Given the description of an element on the screen output the (x, y) to click on. 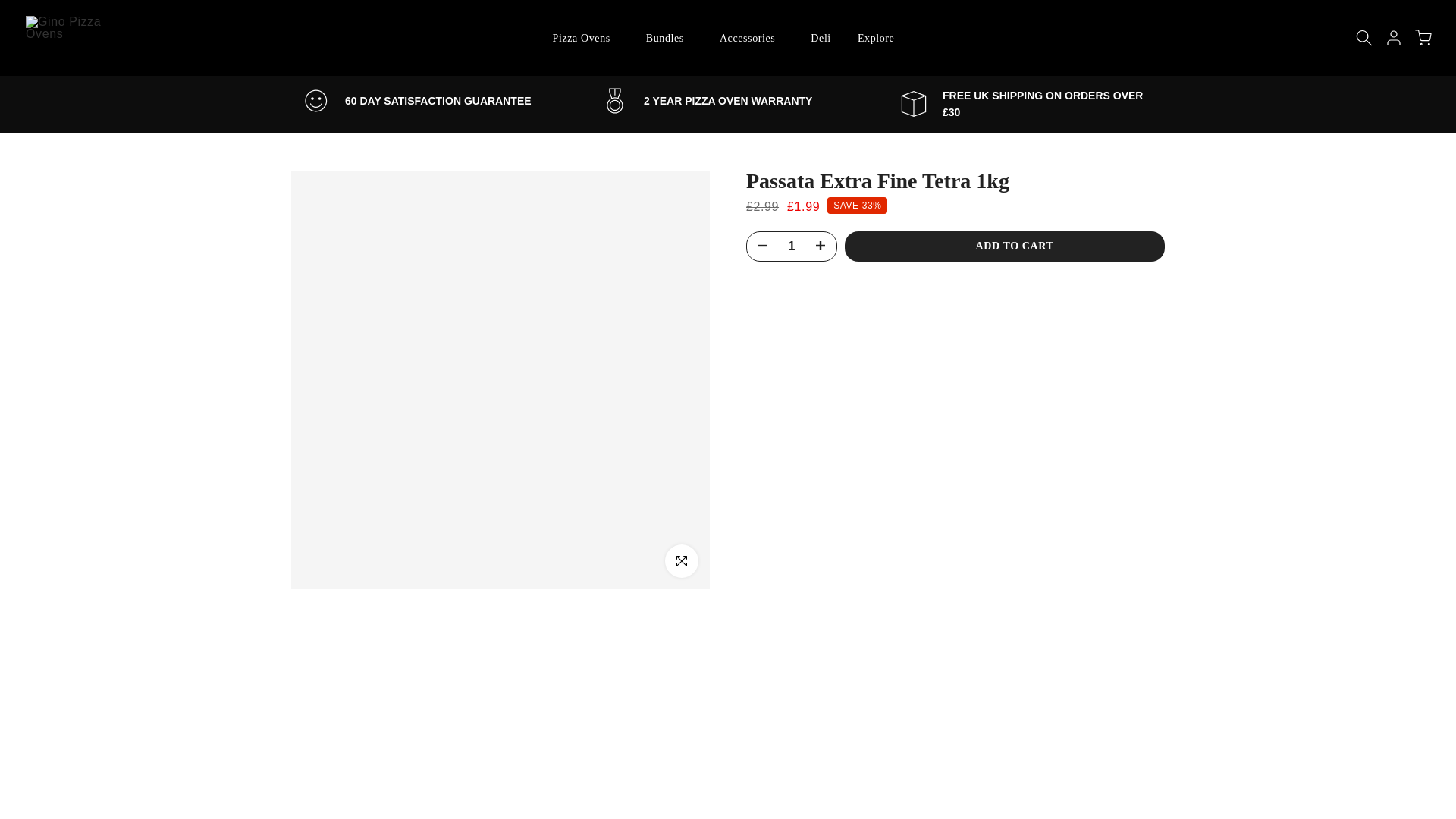
Accessories (751, 38)
Explore (880, 38)
Pizza Ovens (584, 38)
Skip to content (10, 7)
Bundles (668, 38)
ADD TO CART (1004, 245)
Deli (820, 38)
1 (791, 246)
